Given the description of an element on the screen output the (x, y) to click on. 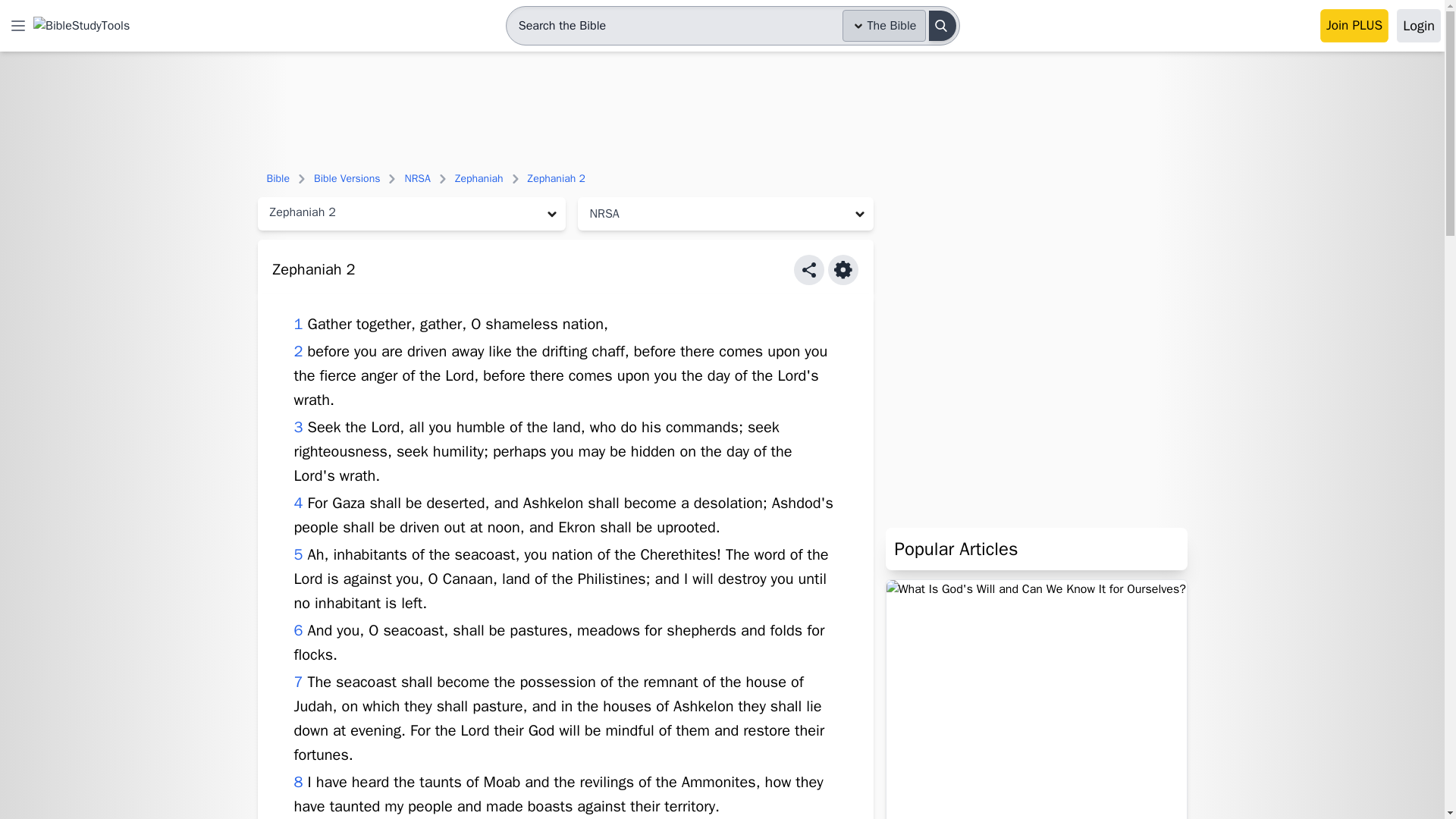
The Bible (884, 25)
Join PLUS (1354, 25)
Scripture Settings (843, 269)
Login (1418, 25)
